Given the description of an element on the screen output the (x, y) to click on. 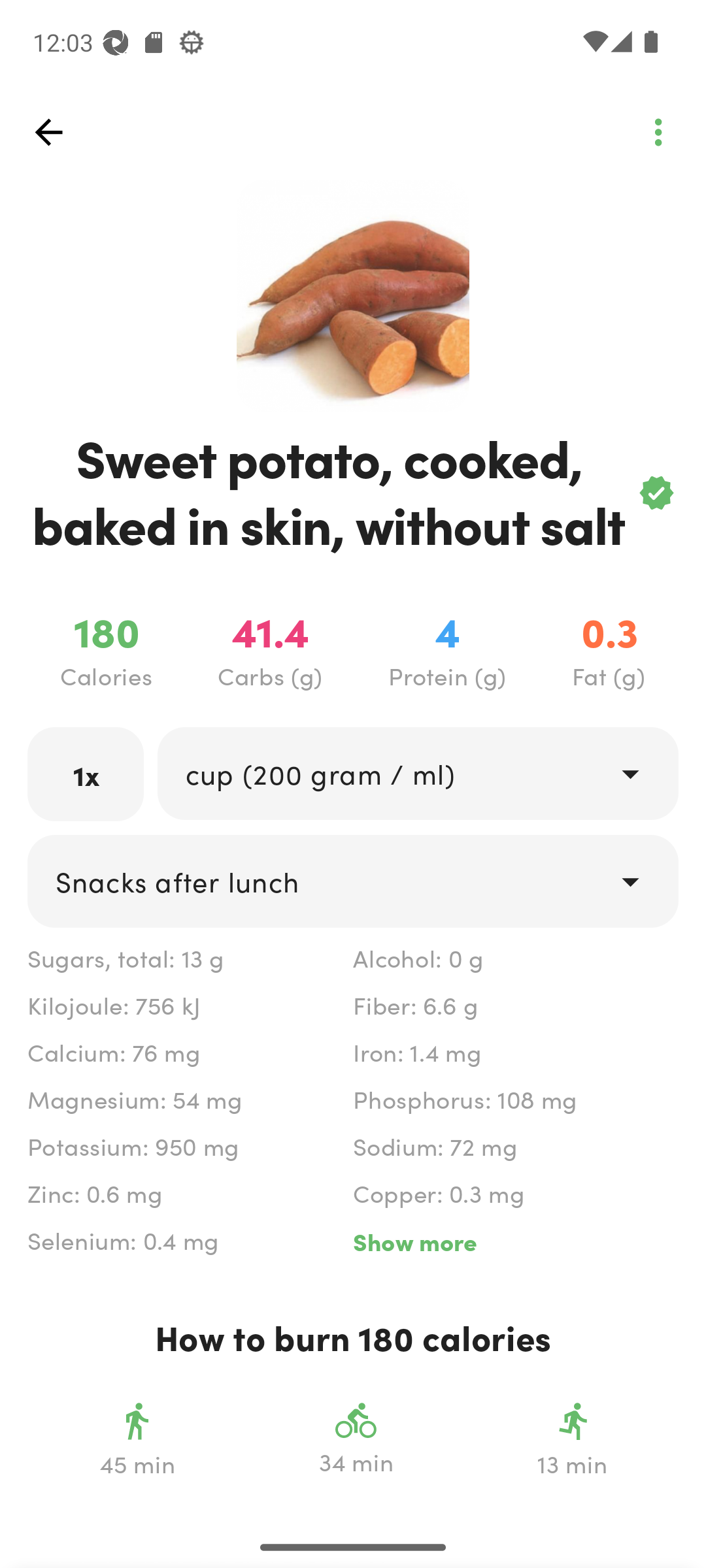
top_left_action (48, 132)
top_left_action (658, 132)
1x labeled_edit_text (85, 774)
drop_down cup (200 gram / ml) (417, 773)
drop_down Snacks after lunch (352, 881)
Show more (515, 1240)
